Given the description of an element on the screen output the (x, y) to click on. 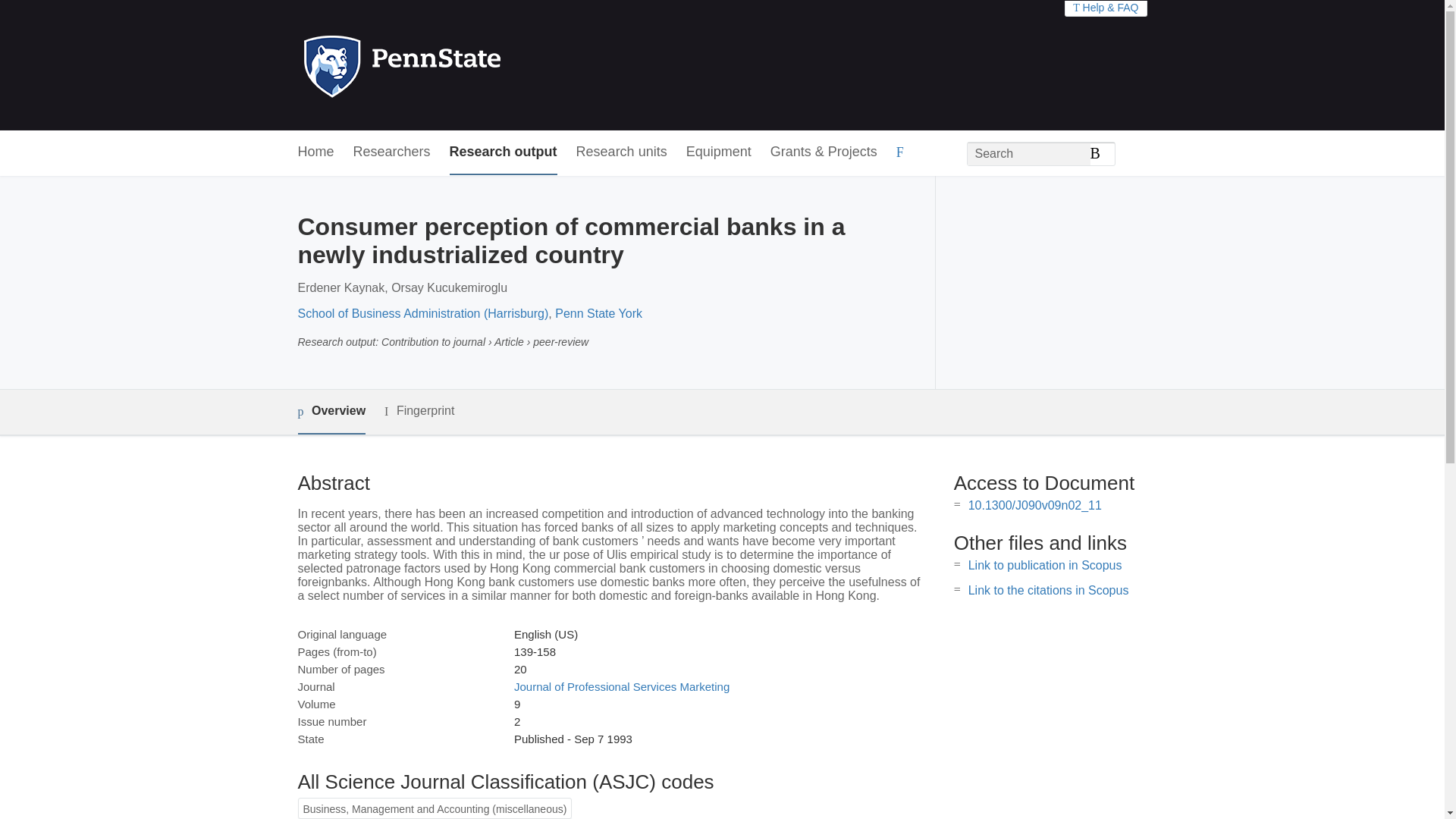
Fingerprint (419, 411)
Research output (503, 152)
Equipment (718, 152)
Link to the citations in Scopus (1048, 590)
Researchers (391, 152)
Penn State York (598, 313)
Link to publication in Scopus (1045, 564)
Overview (331, 411)
Journal of Professional Services Marketing (621, 686)
